Given the description of an element on the screen output the (x, y) to click on. 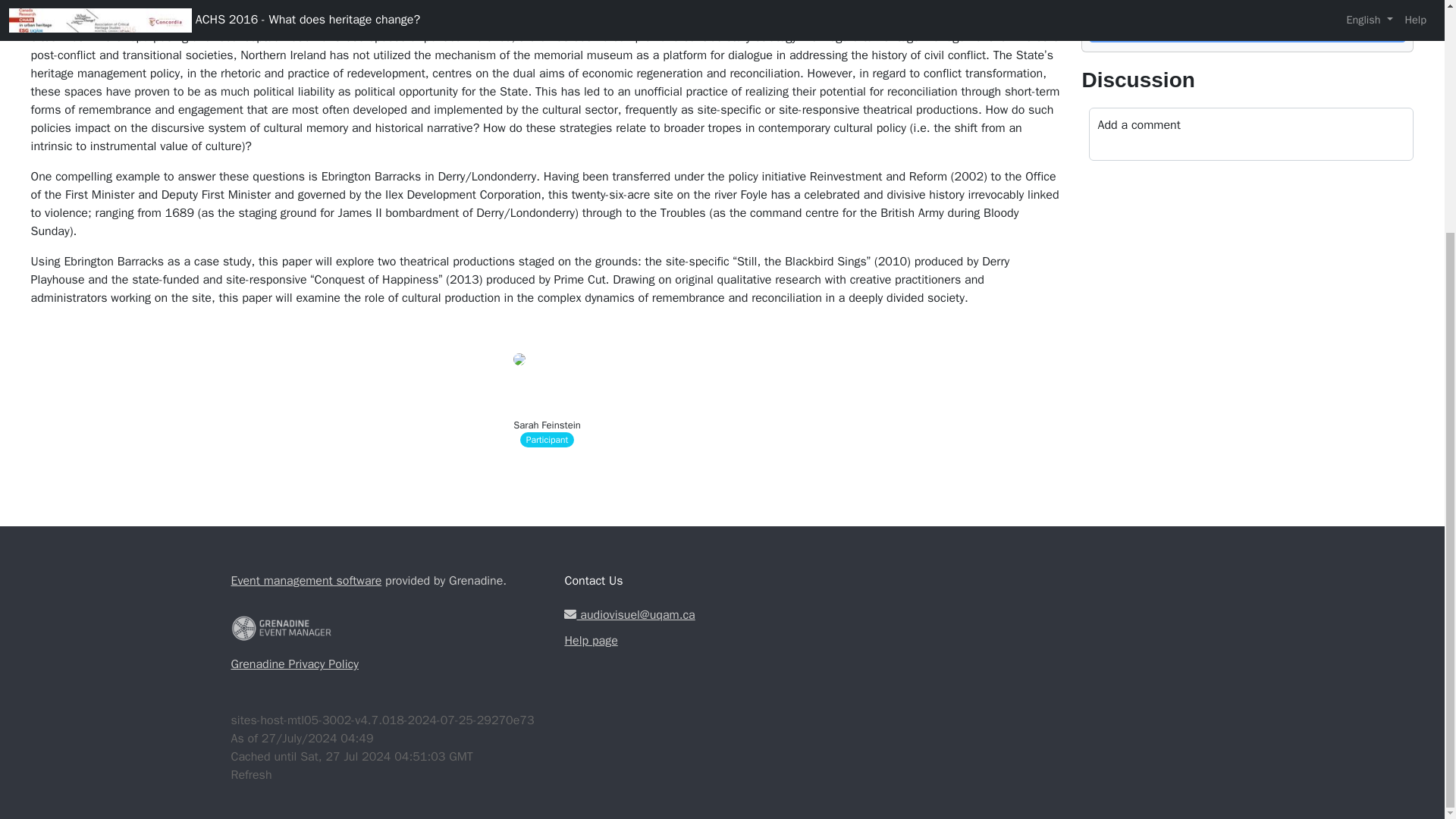
Sarah Feinstein (546, 425)
0 (1226, 2)
Grenadine Privacy Policy (294, 663)
0 (1268, 2)
 Send feedback to the event organizer (1246, 27)
Event management software (305, 580)
